Given the description of an element on the screen output the (x, y) to click on. 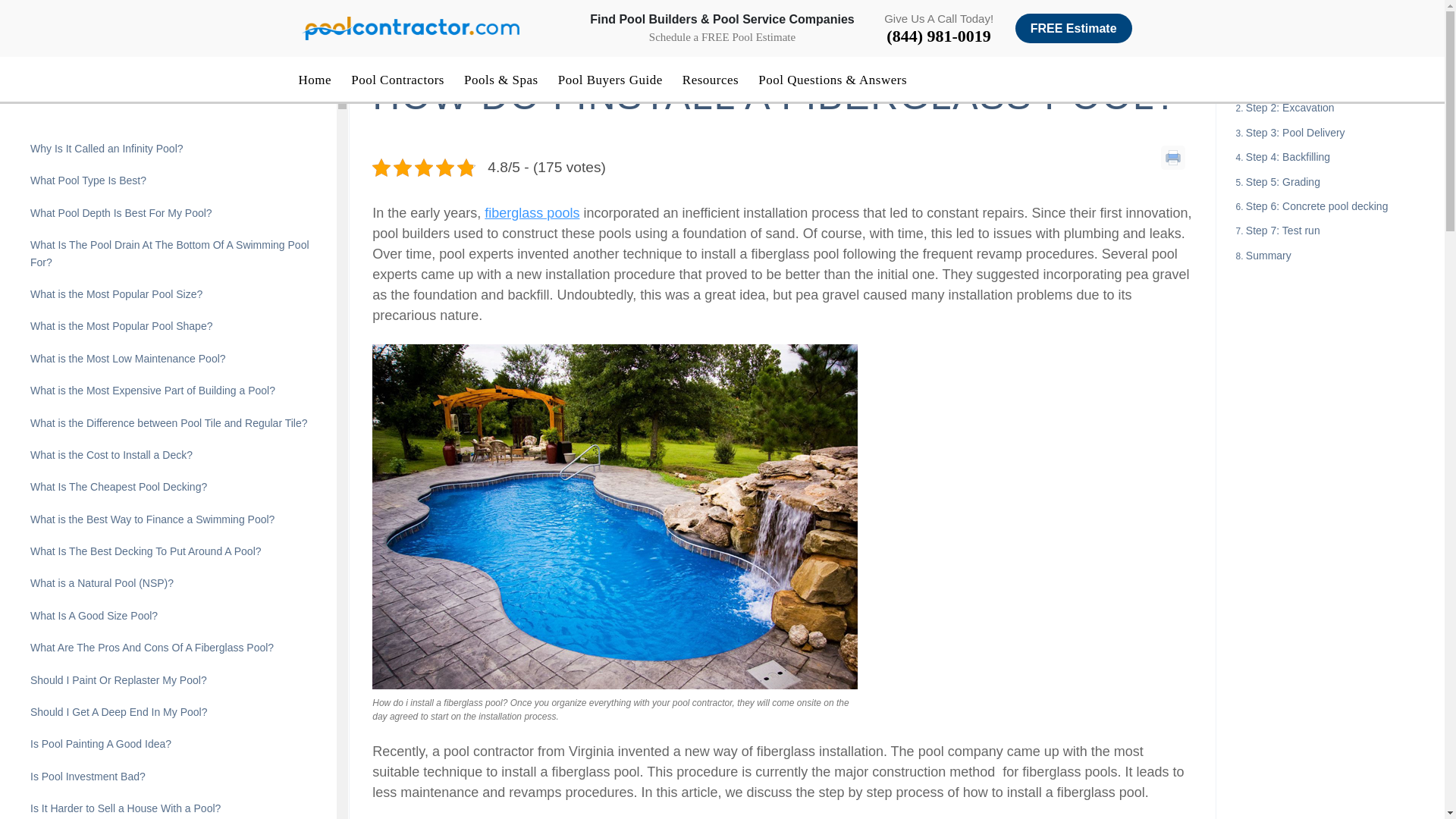
FREE Estimate (1073, 28)
Ask a Pool Contractor (462, 47)
Schedule a FREE Pool Estimate (721, 36)
Home (314, 80)
Home (384, 47)
Pool Contractors (397, 80)
Resources (710, 80)
Pool Buyers Guide (609, 80)
